Given the description of an element on the screen output the (x, y) to click on. 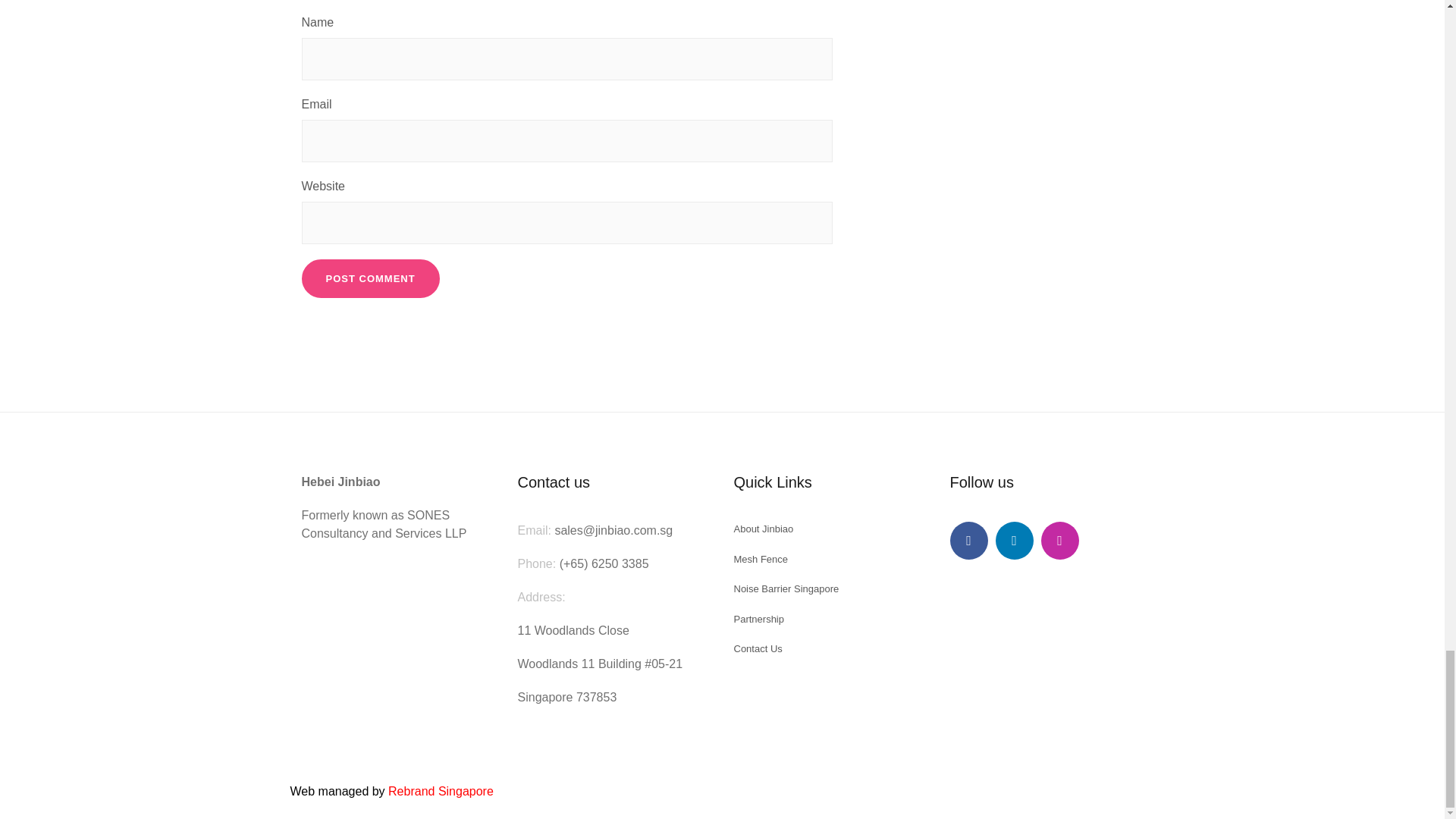
Post Comment (370, 278)
